Given the description of an element on the screen output the (x, y) to click on. 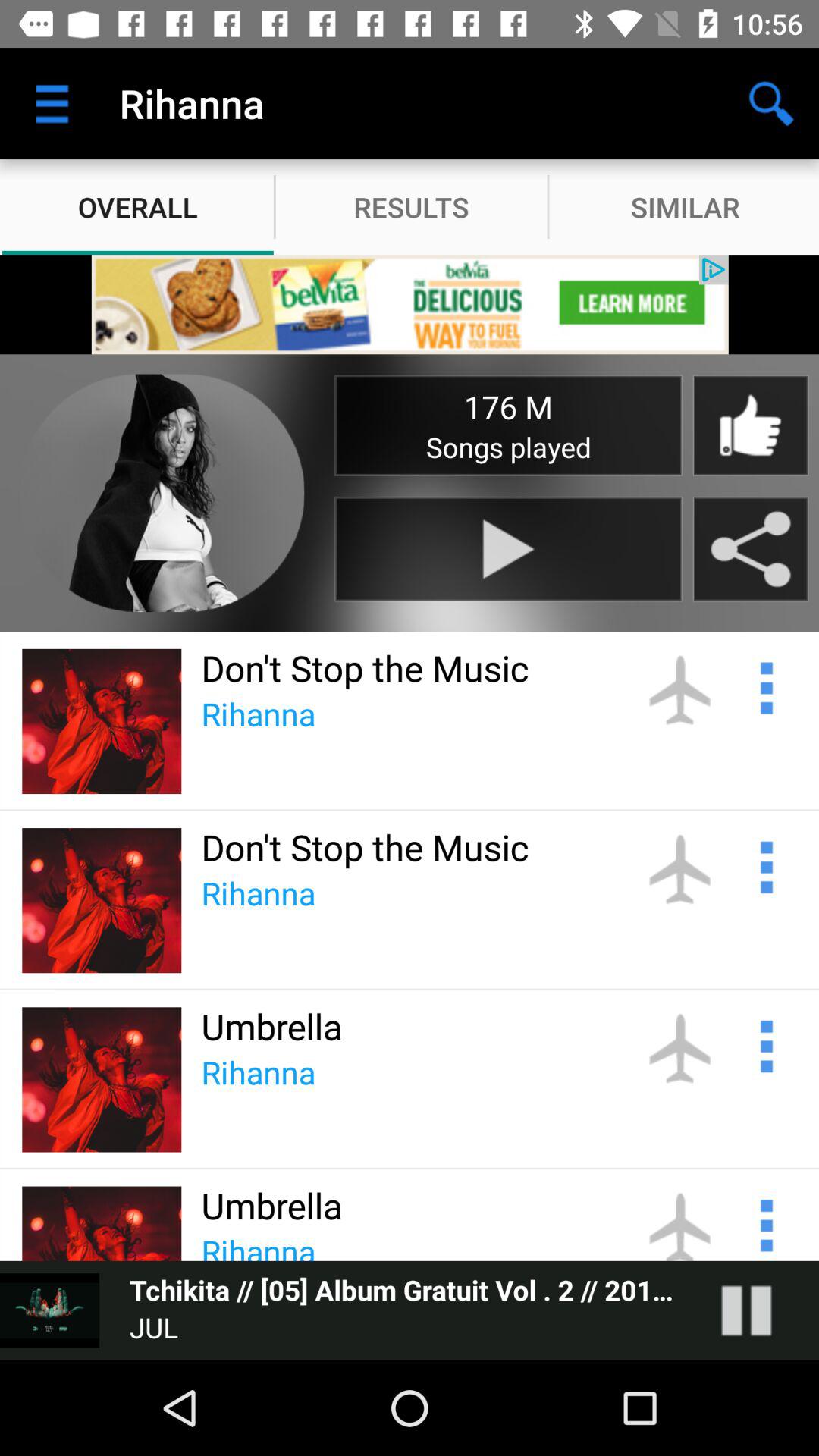
click here for more options (764, 1044)
